Given the description of an element on the screen output the (x, y) to click on. 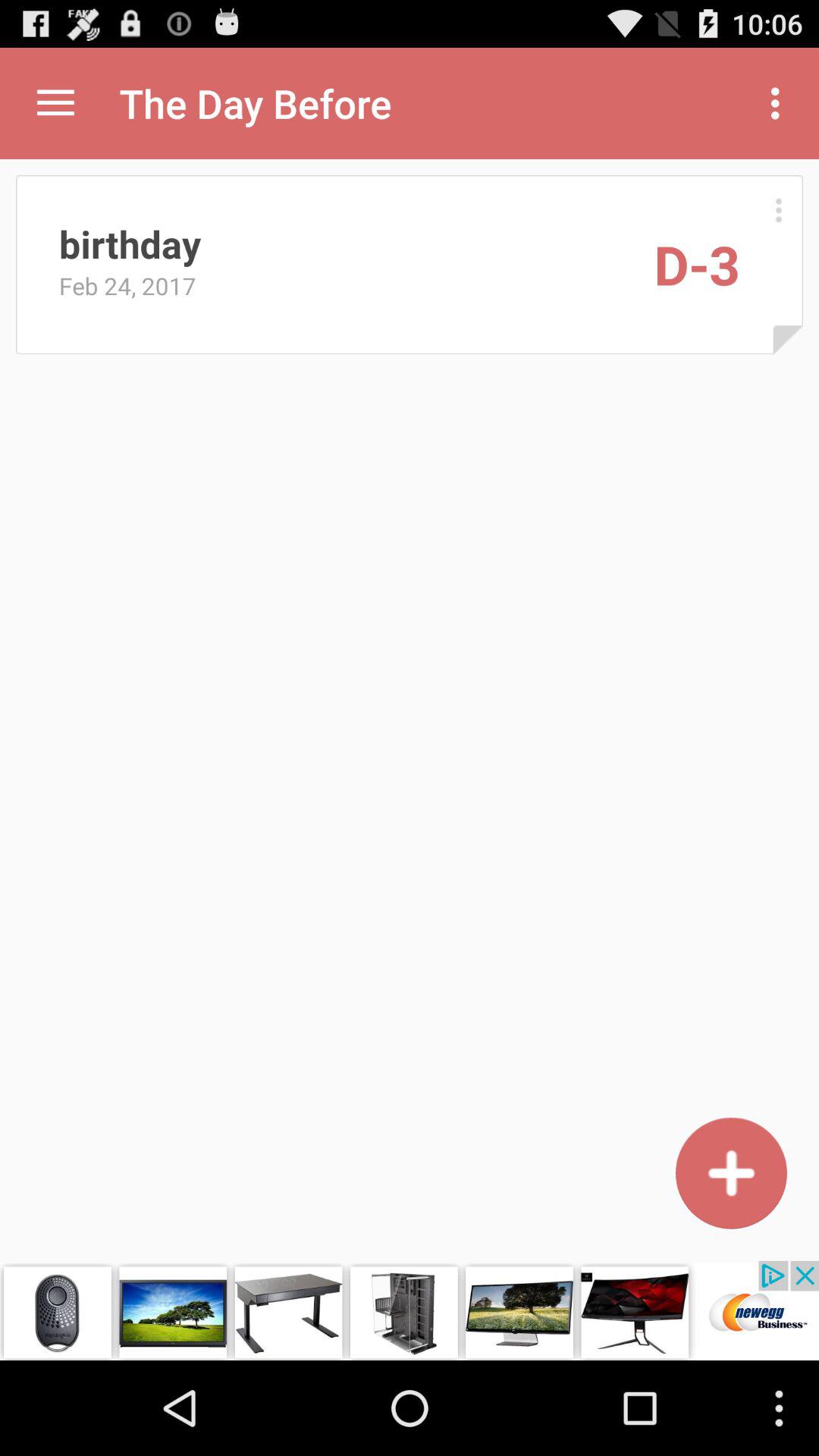
visit advertised site (409, 1310)
